Given the description of an element on the screen output the (x, y) to click on. 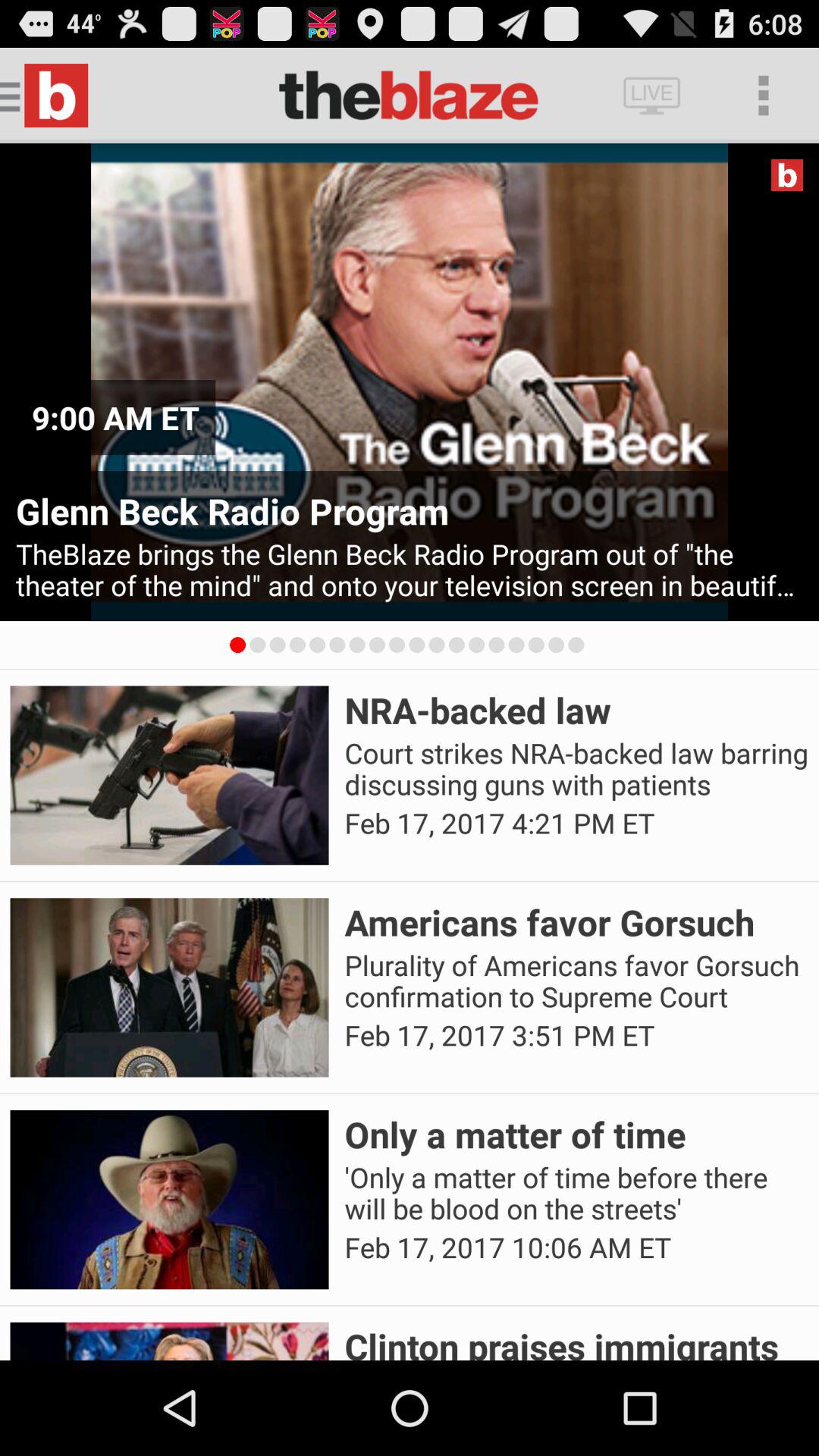
turn on the icon above feb 17 2017 item (576, 981)
